Given the description of an element on the screen output the (x, y) to click on. 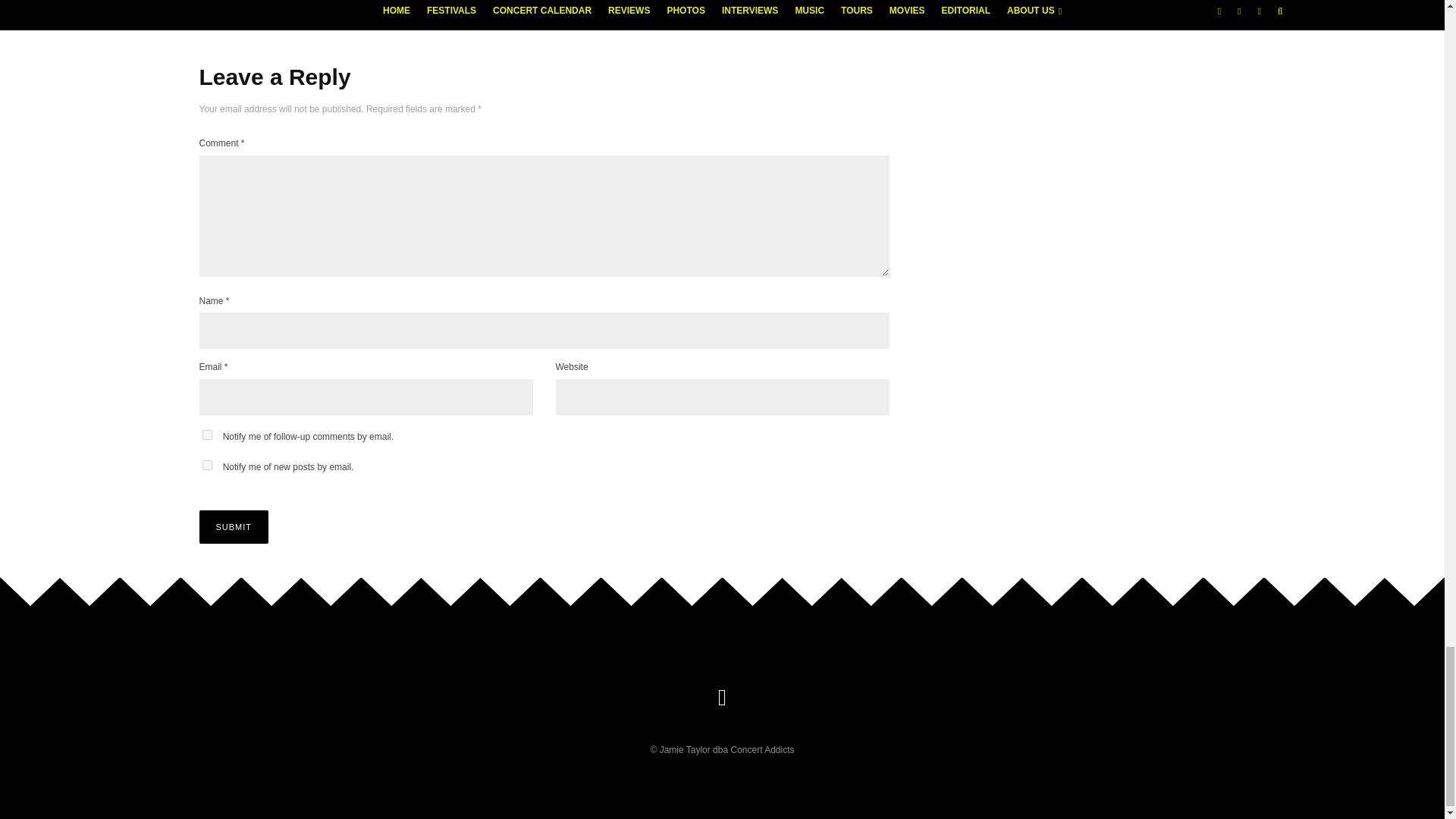
Submit (232, 526)
subscribe (206, 434)
subscribe (206, 465)
